Given the description of an element on the screen output the (x, y) to click on. 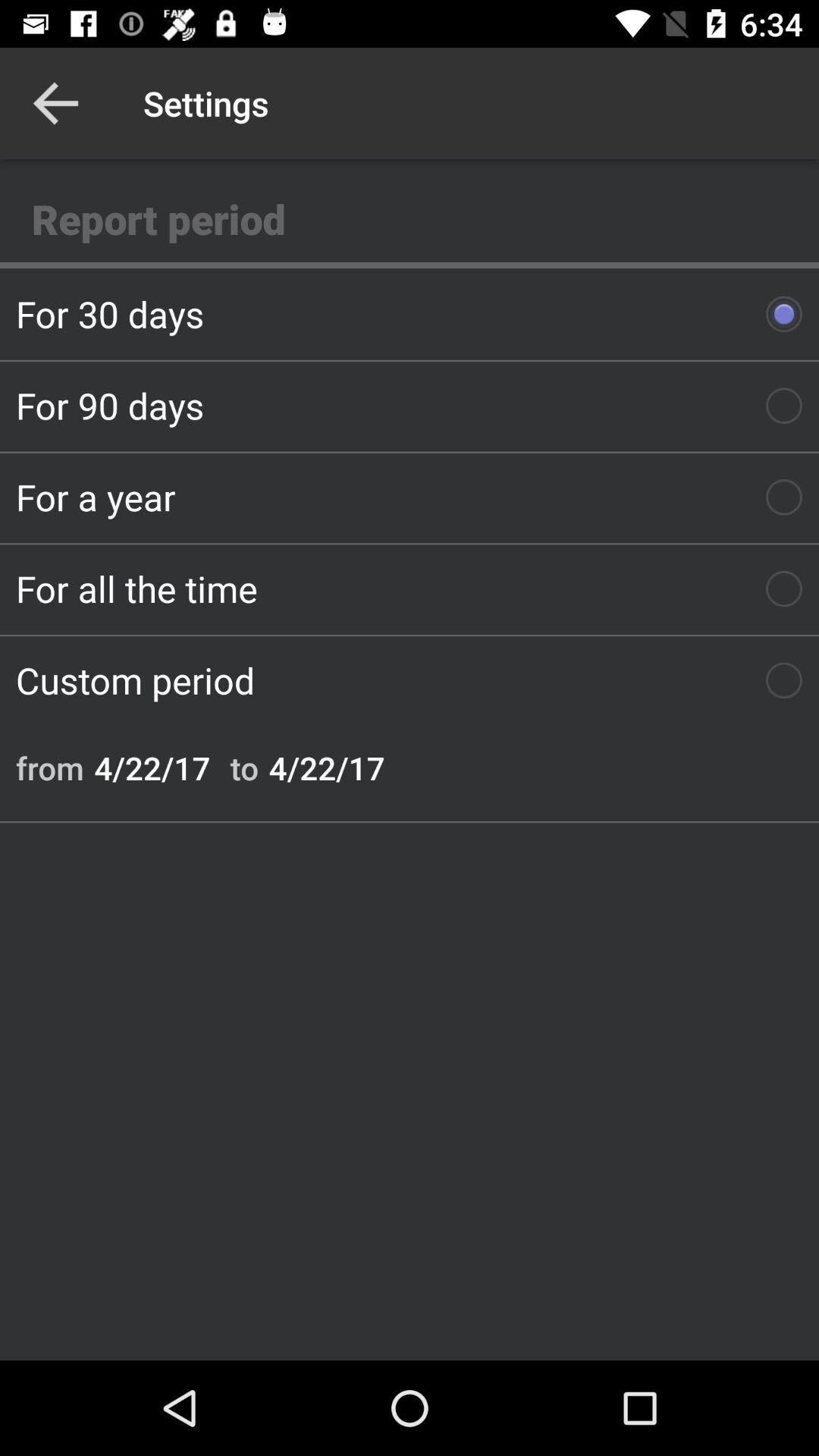
open item below for all the (409, 680)
